Given the description of an element on the screen output the (x, y) to click on. 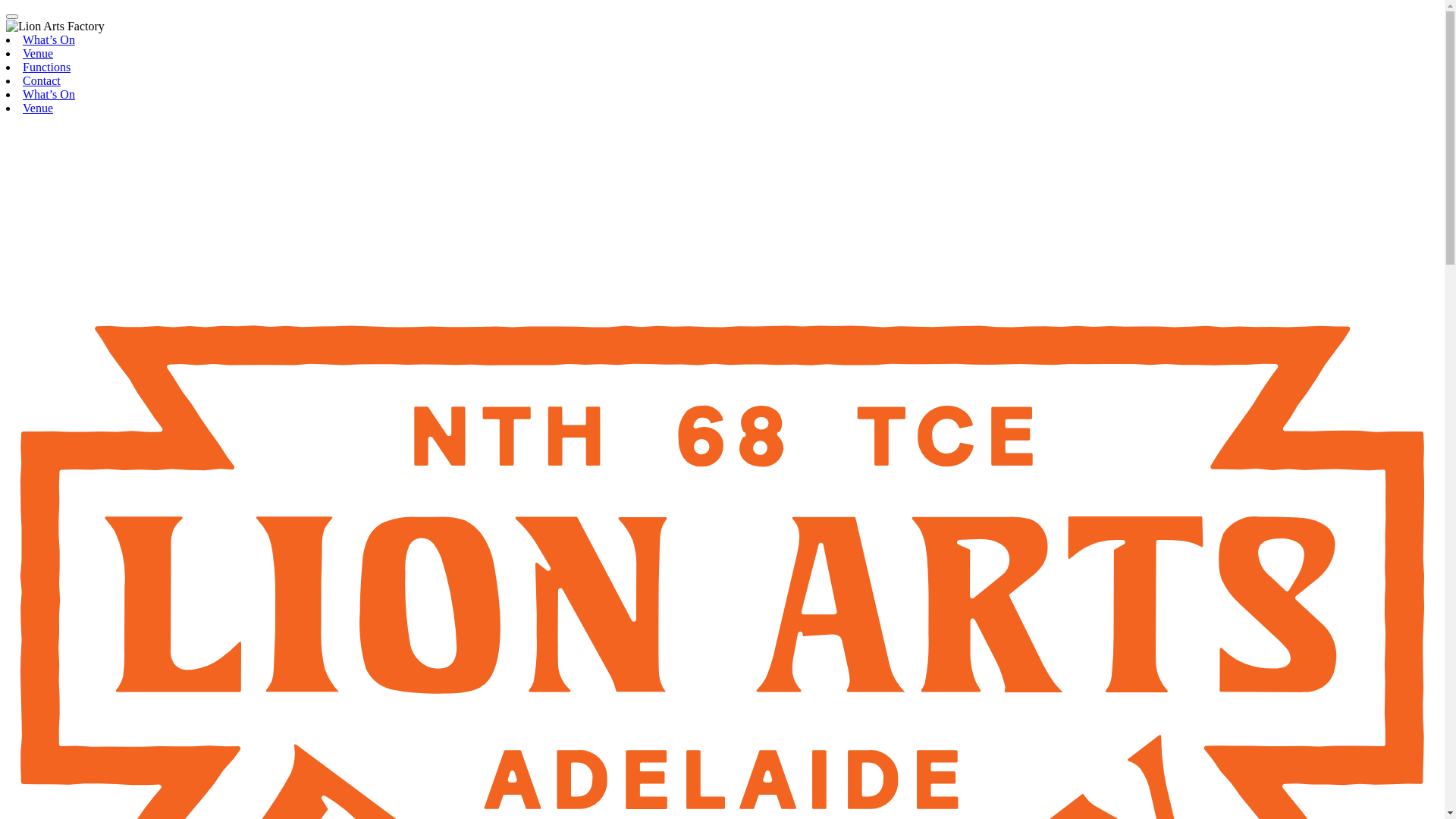
Venue Element type: text (37, 107)
Contact Element type: text (41, 80)
Functions Element type: text (46, 66)
Venue Element type: text (37, 53)
